Given the description of an element on the screen output the (x, y) to click on. 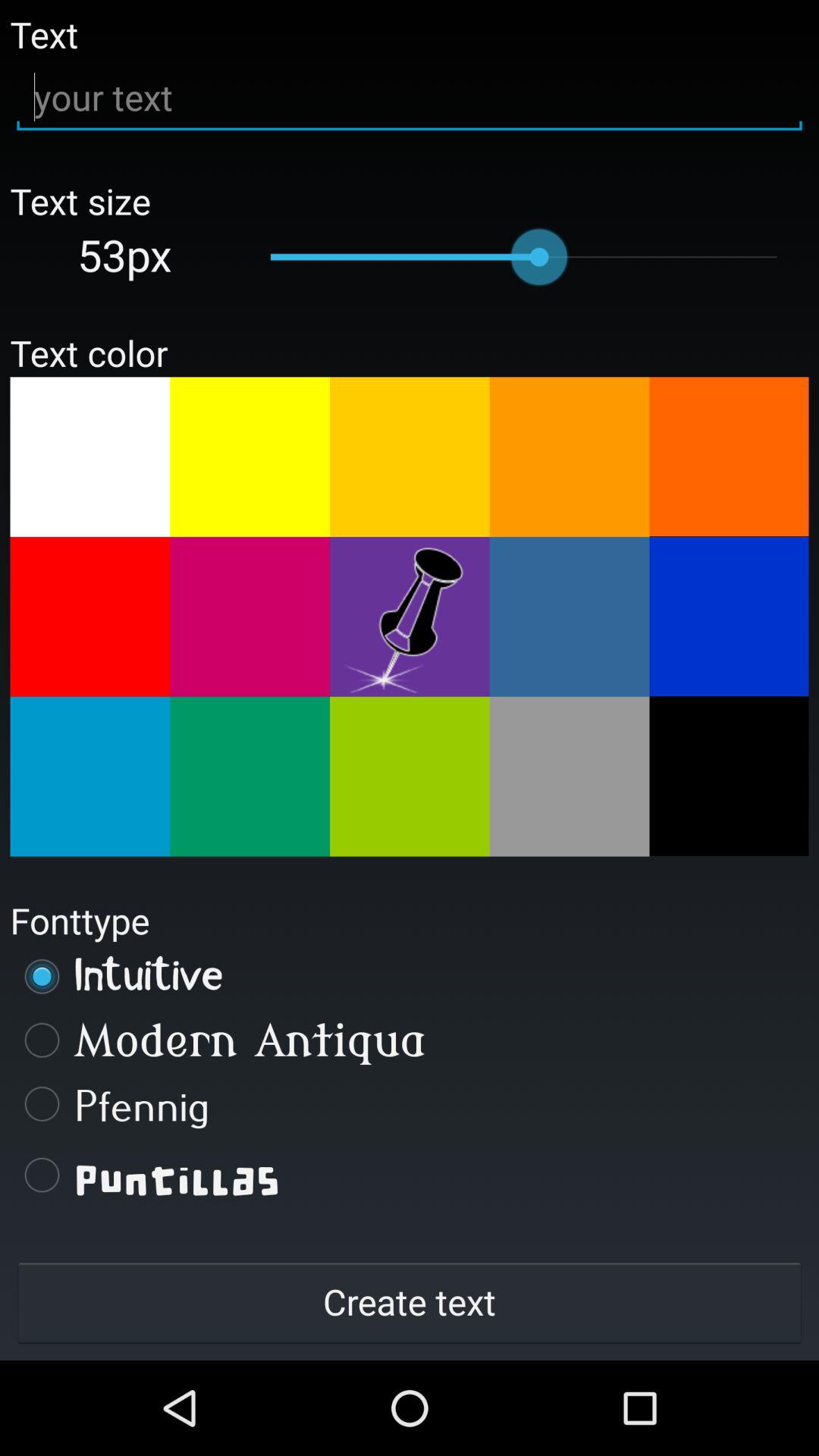
swipe to modern antiqua (409, 1040)
